Given the description of an element on the screen output the (x, y) to click on. 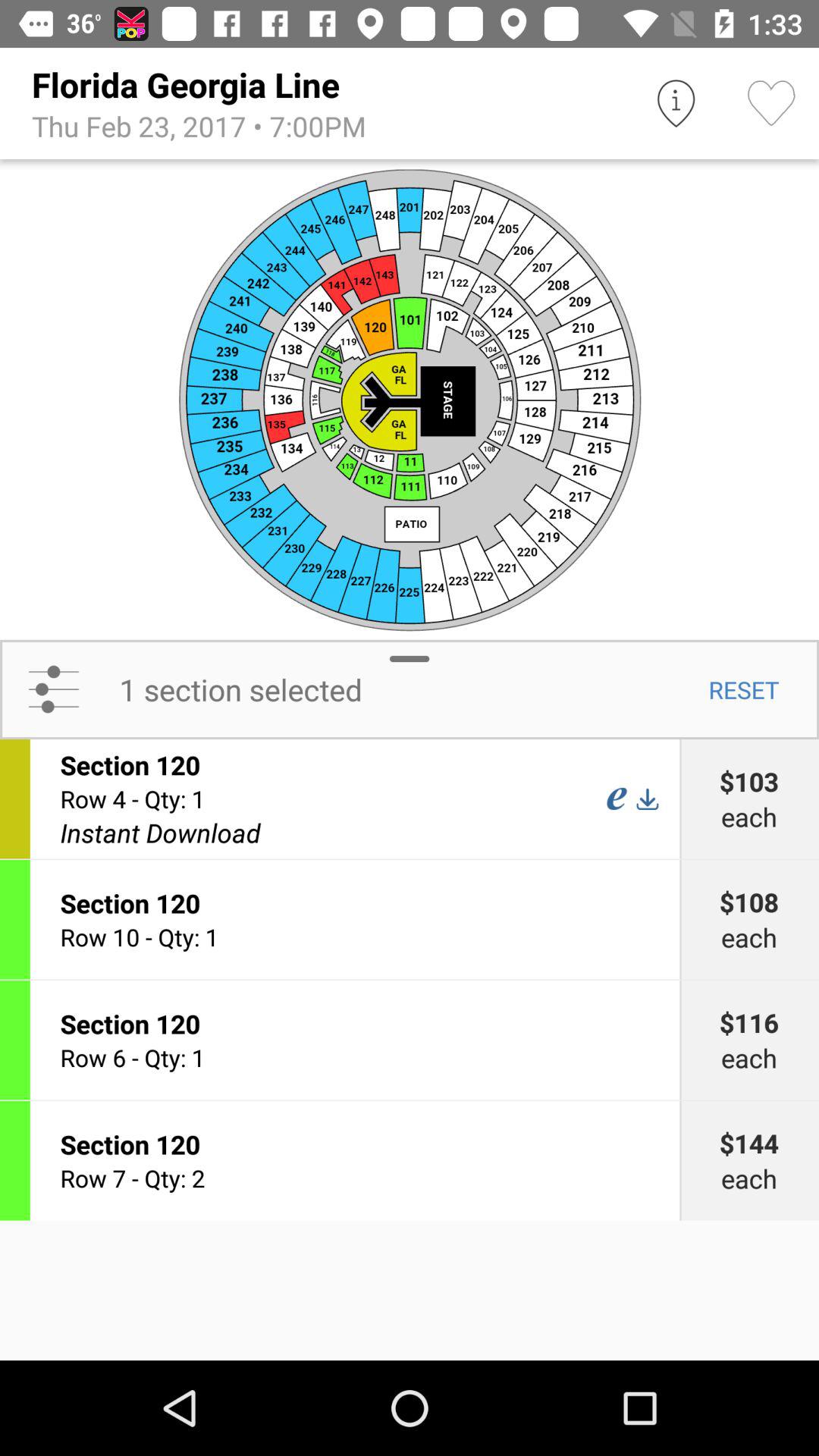
select icon to the right of the thu feb 23 (675, 103)
